Given the description of an element on the screen output the (x, y) to click on. 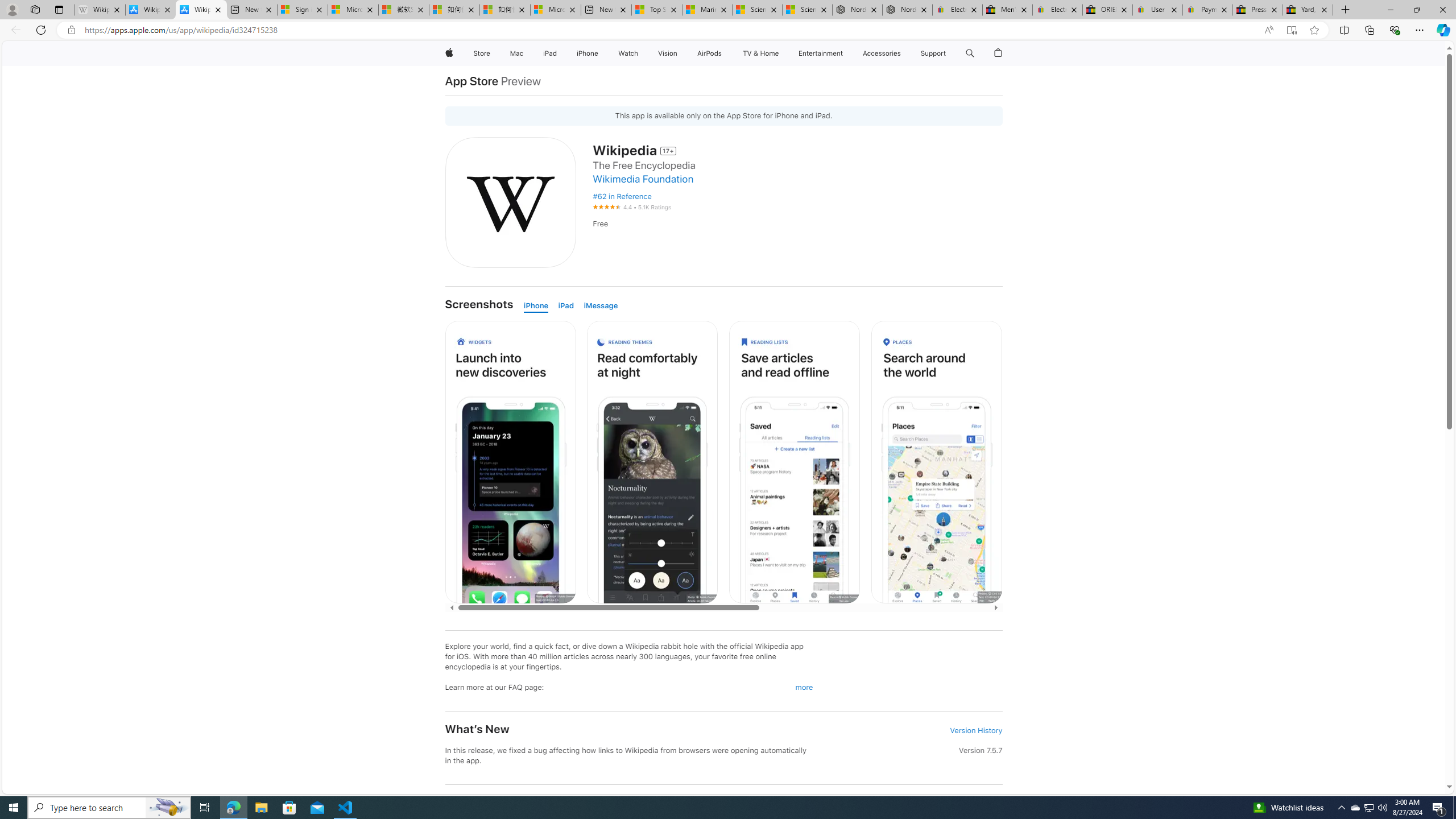
Vision (667, 53)
Shopping Bag (998, 53)
Watch menu (640, 53)
Marine life - MSN (706, 9)
Class: globalnav-submenu-trigger-item (948, 53)
Nordace - Summer Adventures 2024 (907, 9)
Wikimedia Foundation (643, 178)
Entertainment menu (844, 53)
